Given the description of an element on the screen output the (x, y) to click on. 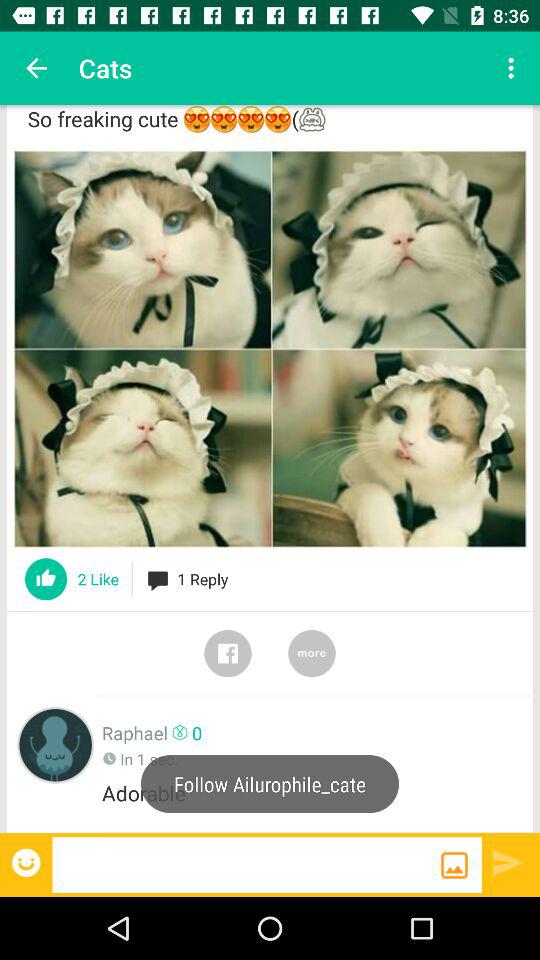
turn off the icon at the top right corner (513, 67)
